Given the description of an element on the screen output the (x, y) to click on. 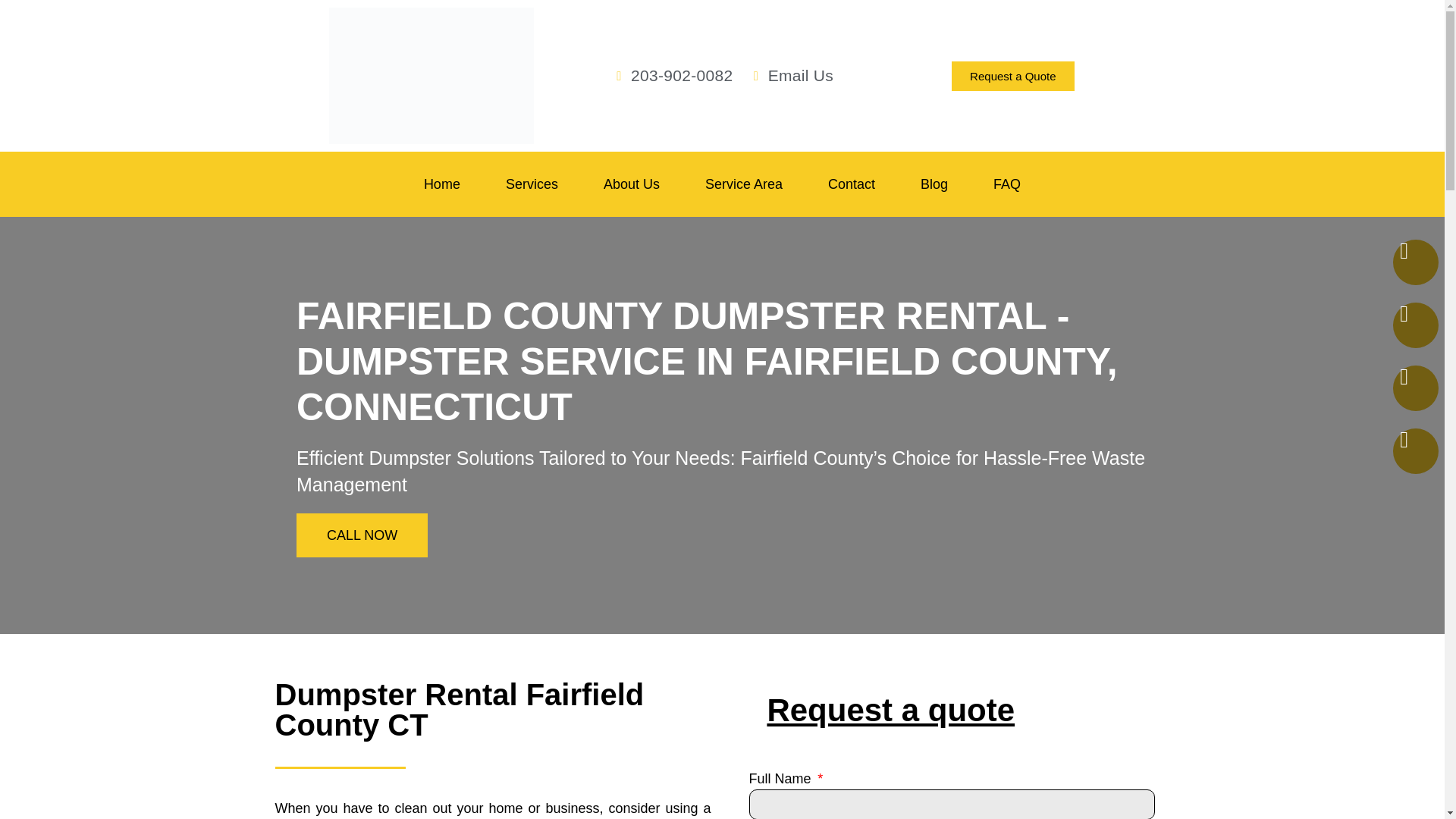
Service Area (743, 184)
Home (442, 184)
Blog (933, 184)
Services (531, 184)
Contact (850, 184)
Request a Quote (1013, 75)
About Us (631, 184)
Email Us (790, 75)
FAQ (1006, 184)
203-902-0082 (672, 75)
